Given the description of an element on the screen output the (x, y) to click on. 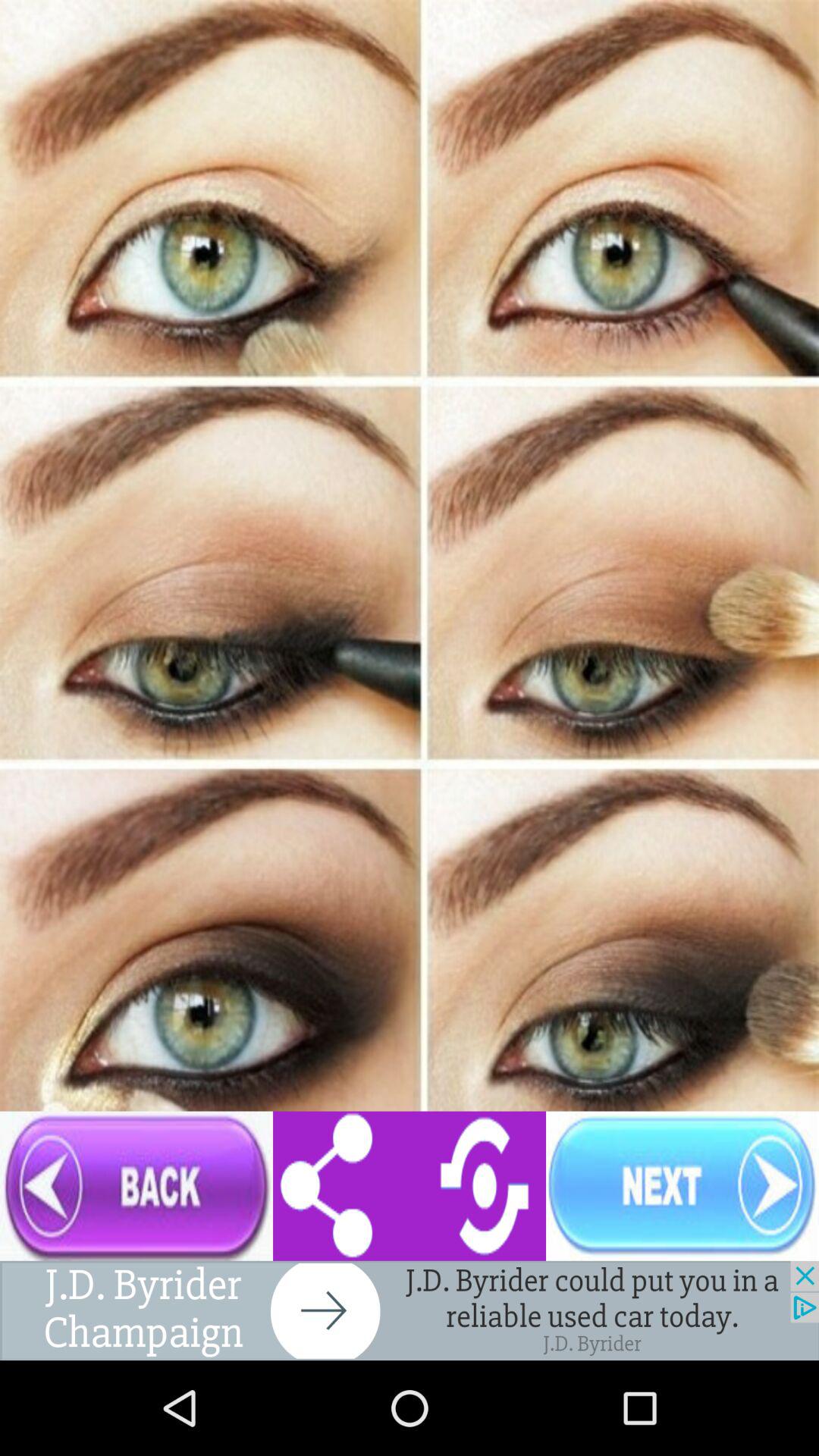
next option (682, 1185)
